Given the description of an element on the screen output the (x, y) to click on. 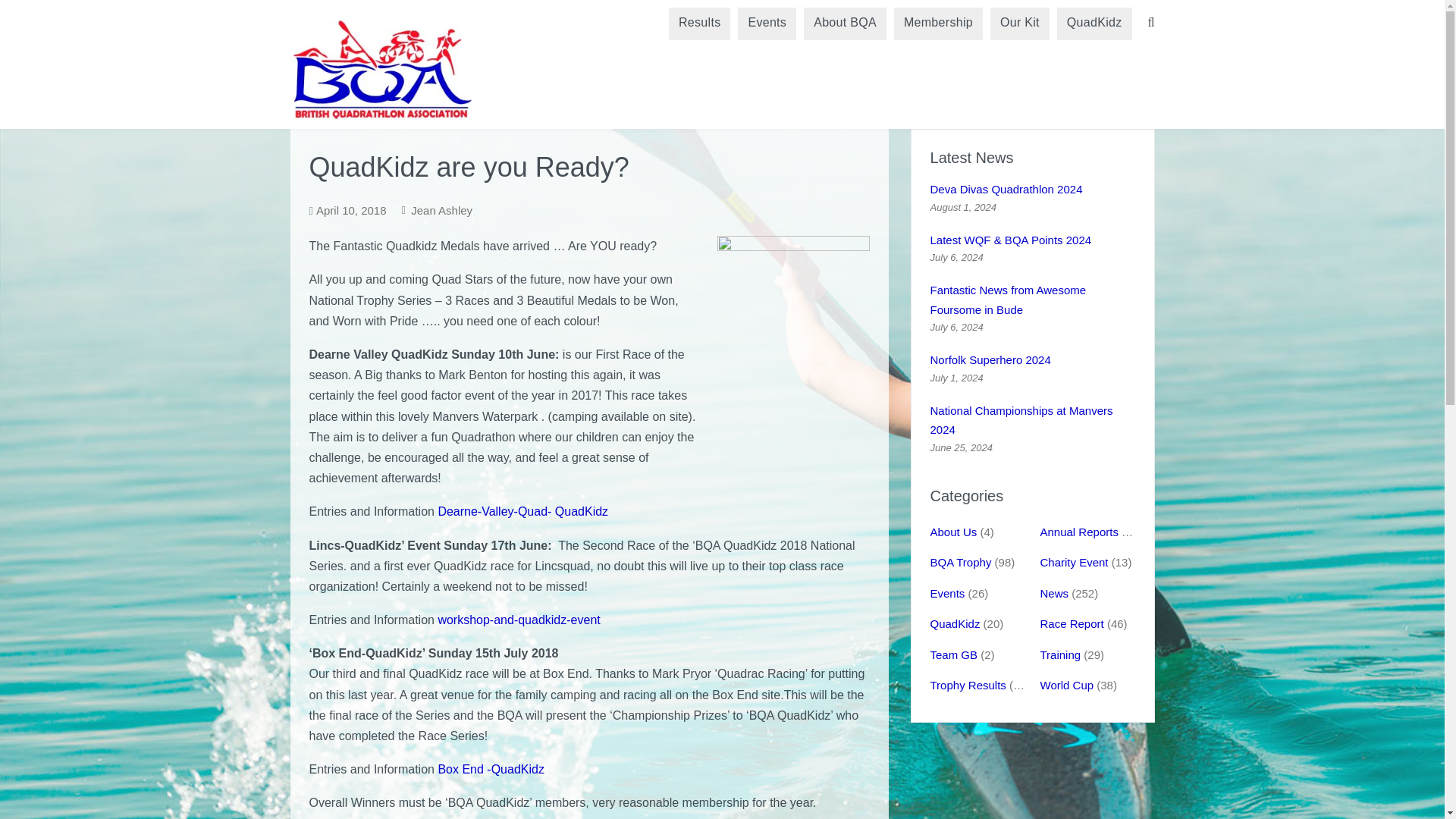
Results (699, 23)
Events (767, 23)
Permalink to QuadKidz are you Ready? (351, 210)
About BQA (844, 23)
